Given the description of an element on the screen output the (x, y) to click on. 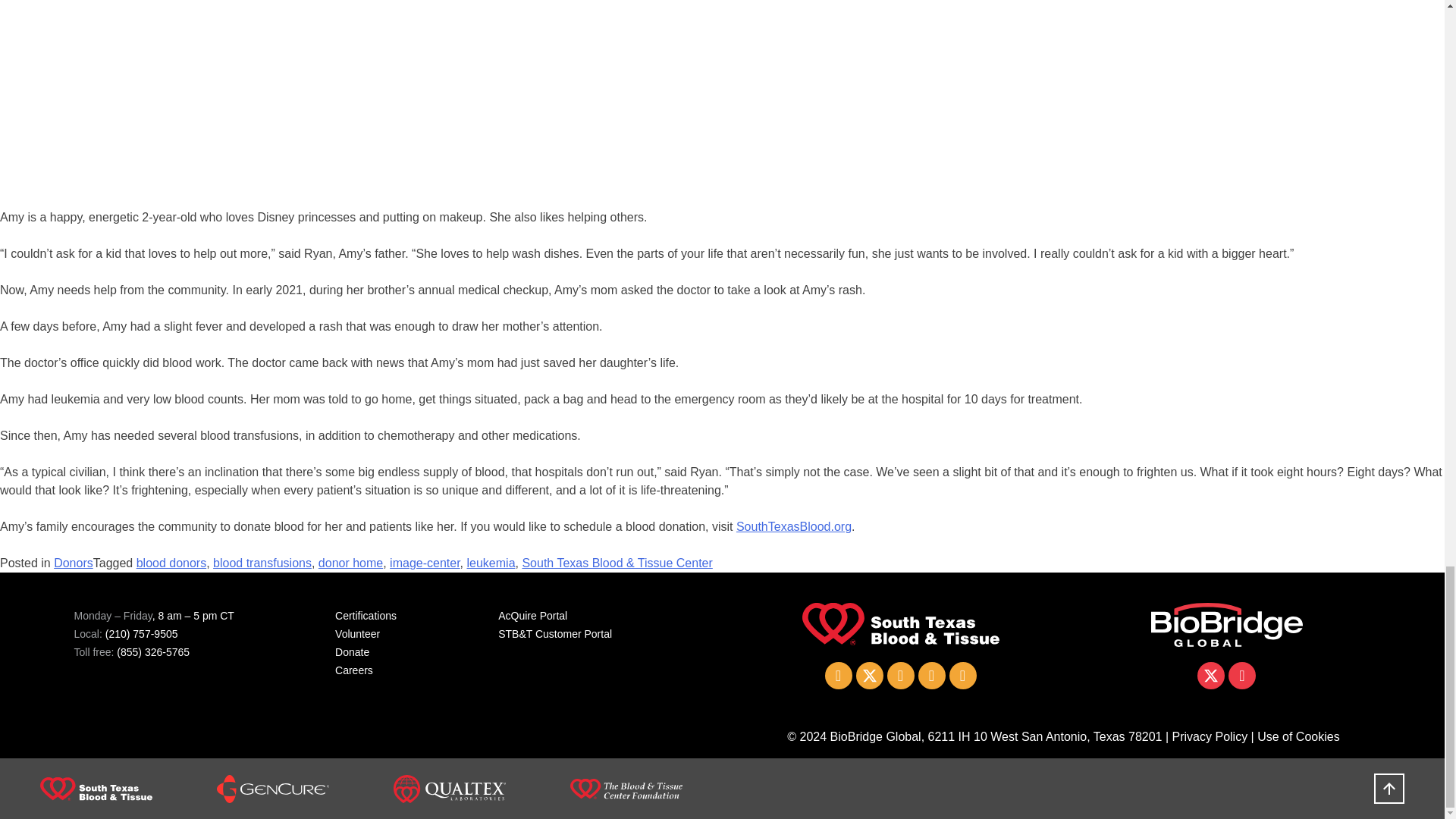
Introduction to Amy (242, 95)
